Given the description of an element on the screen output the (x, y) to click on. 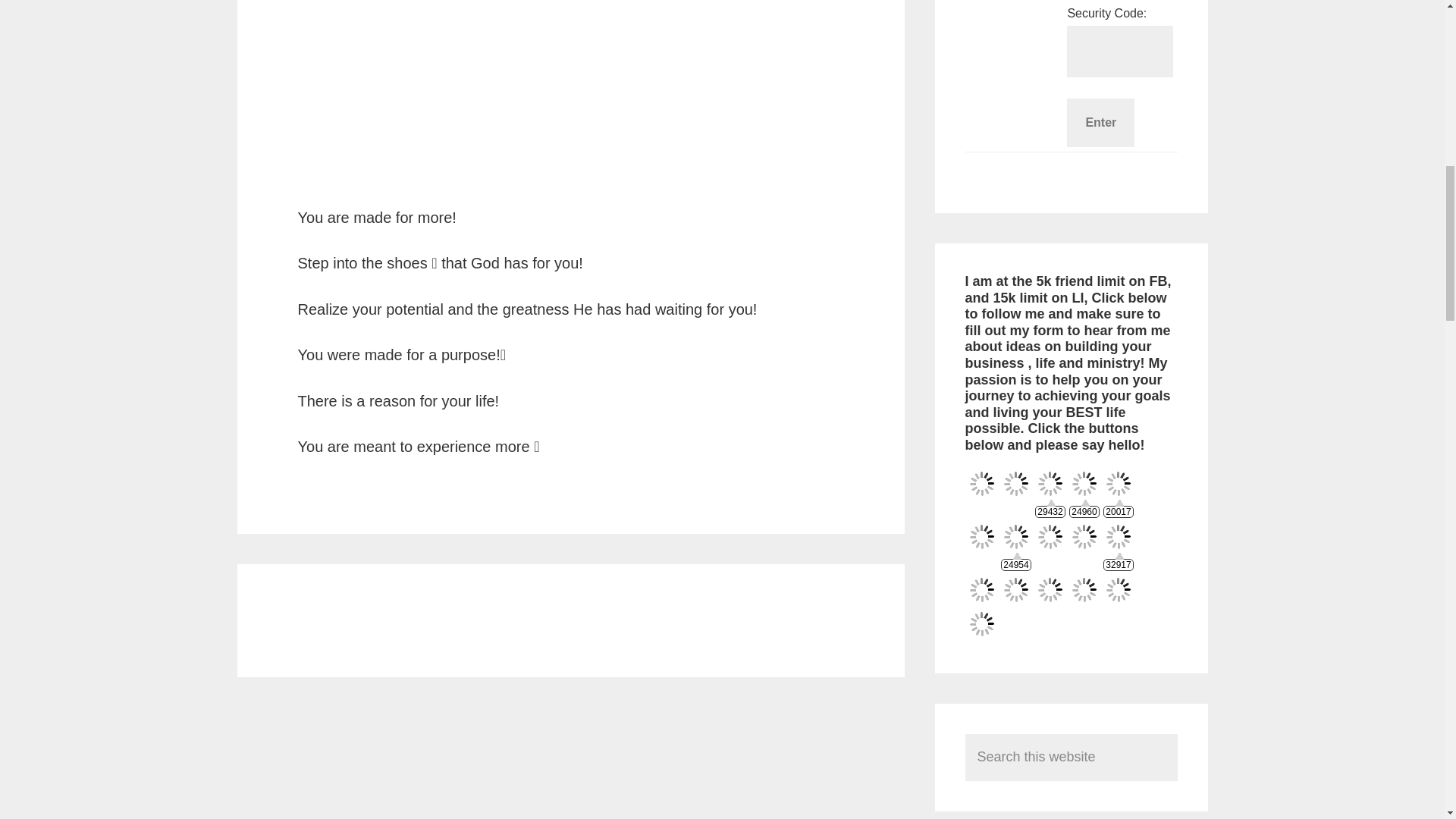
Soundcloud (1083, 536)
Enter (1100, 122)
Enter (1100, 122)
Snapchat (1050, 536)
